Given the description of an element on the screen output the (x, y) to click on. 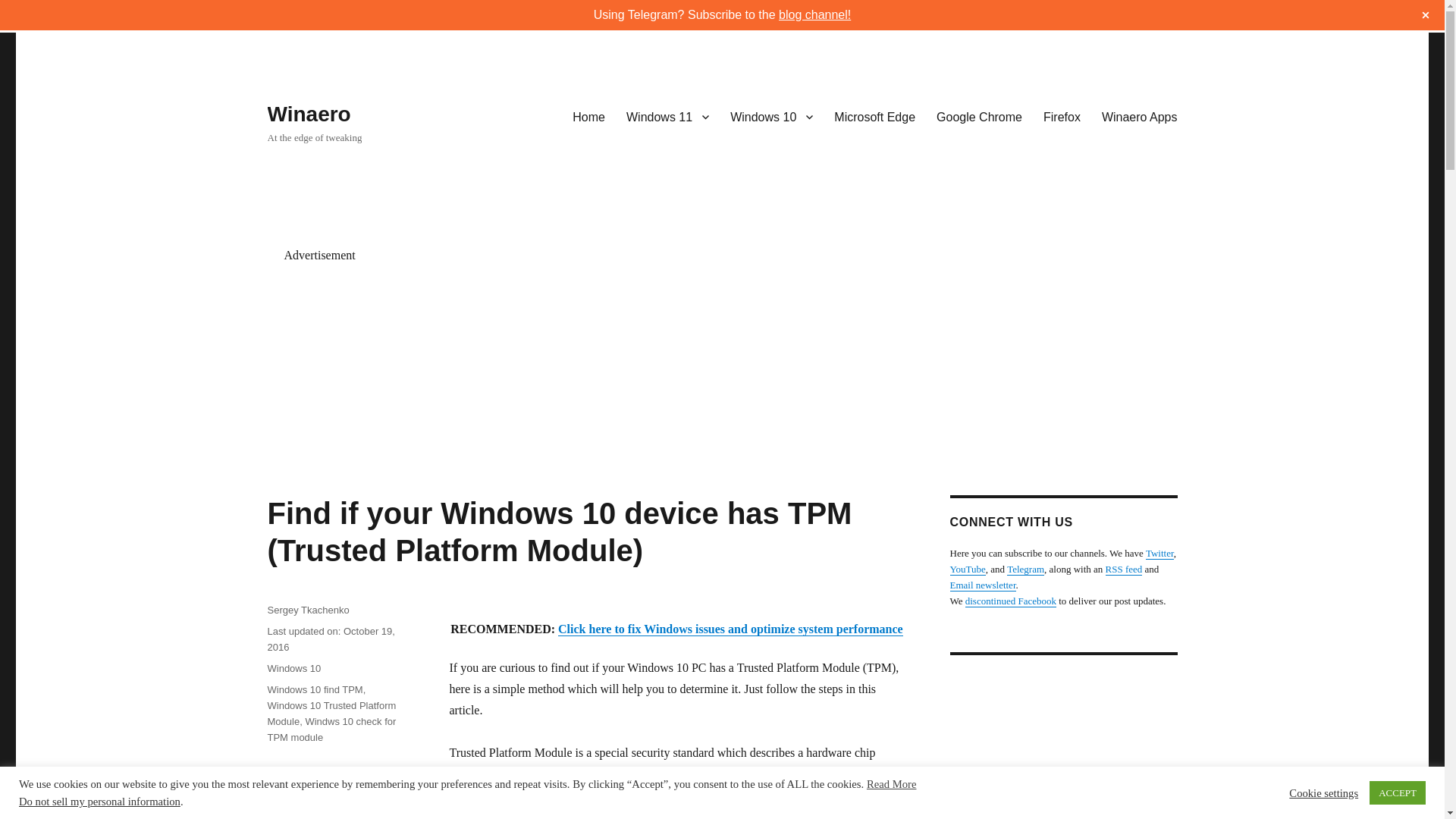
Windows 10 Trusted Platform Module (331, 713)
Windows 10 (293, 668)
Advertisement (1079, 745)
Join our Telegram channel (1025, 568)
Firefox (1061, 116)
Windws 10 check for TPM module (331, 728)
Windows 10 (771, 116)
Winaero on YouTube (967, 568)
Windows 11 (667, 116)
